Given the description of an element on the screen output the (x, y) to click on. 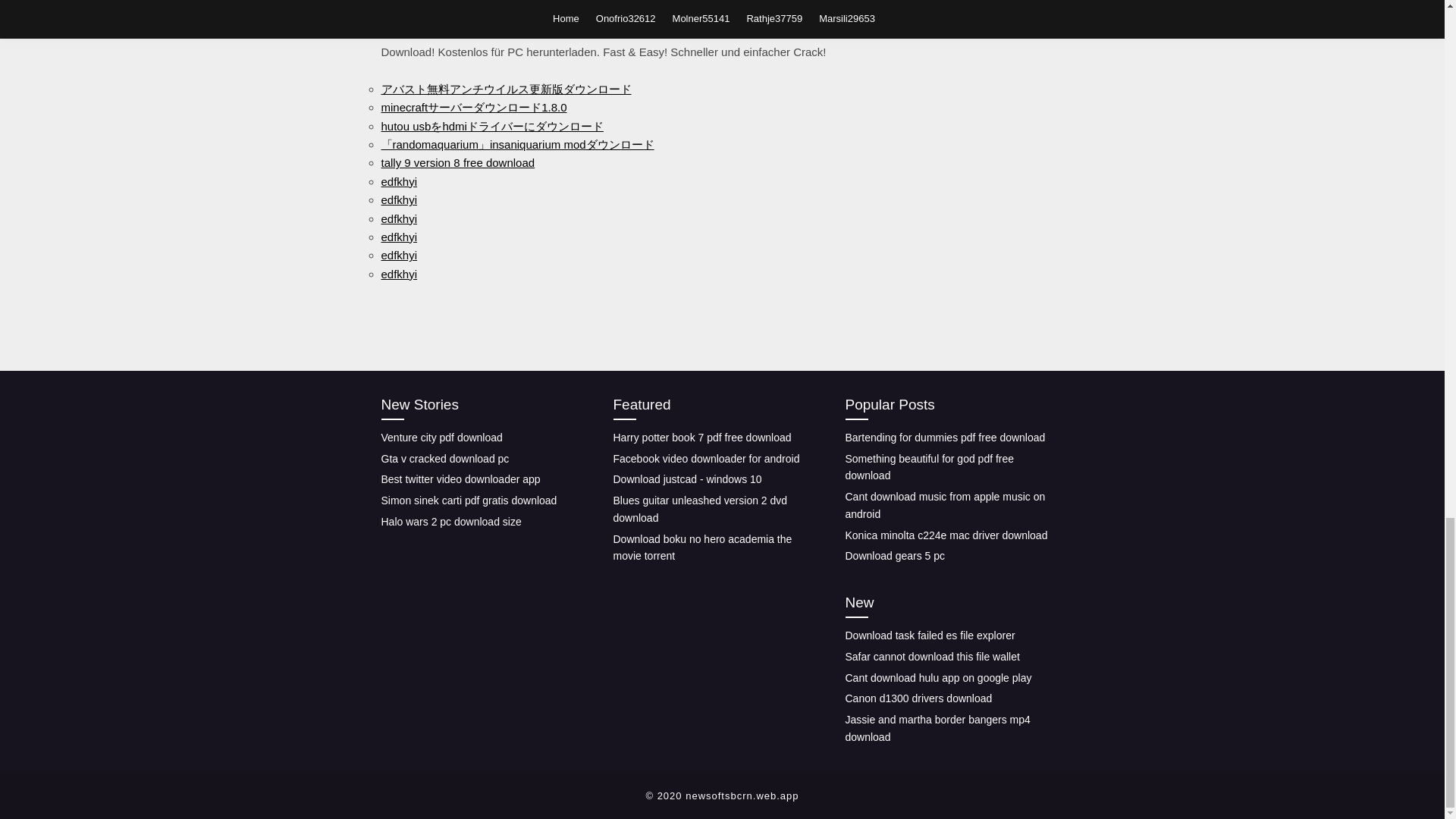
Download gears 5 pc (894, 555)
Download task failed es file explorer (929, 635)
tally 9 version 8 free download (457, 162)
edfkhyi (398, 181)
Halo wars 2 pc download size (450, 521)
edfkhyi (398, 254)
Something beautiful for god pdf free download (928, 467)
edfkhyi (398, 217)
Safar cannot download this file wallet (931, 656)
Harry potter book 7 pdf free download (701, 437)
